Given the description of an element on the screen output the (x, y) to click on. 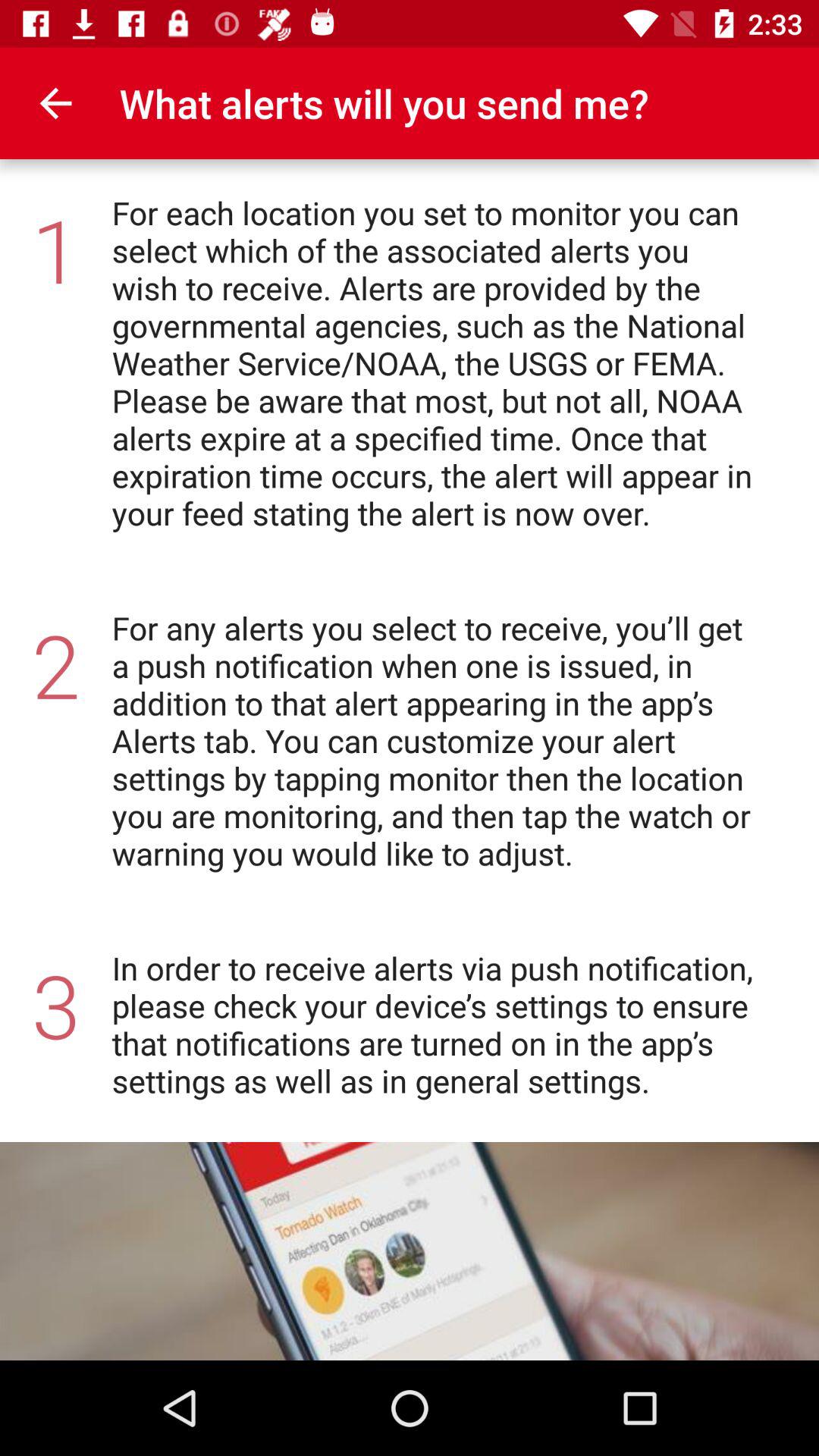
press icon next to the what alerts will icon (55, 103)
